Given the description of an element on the screen output the (x, y) to click on. 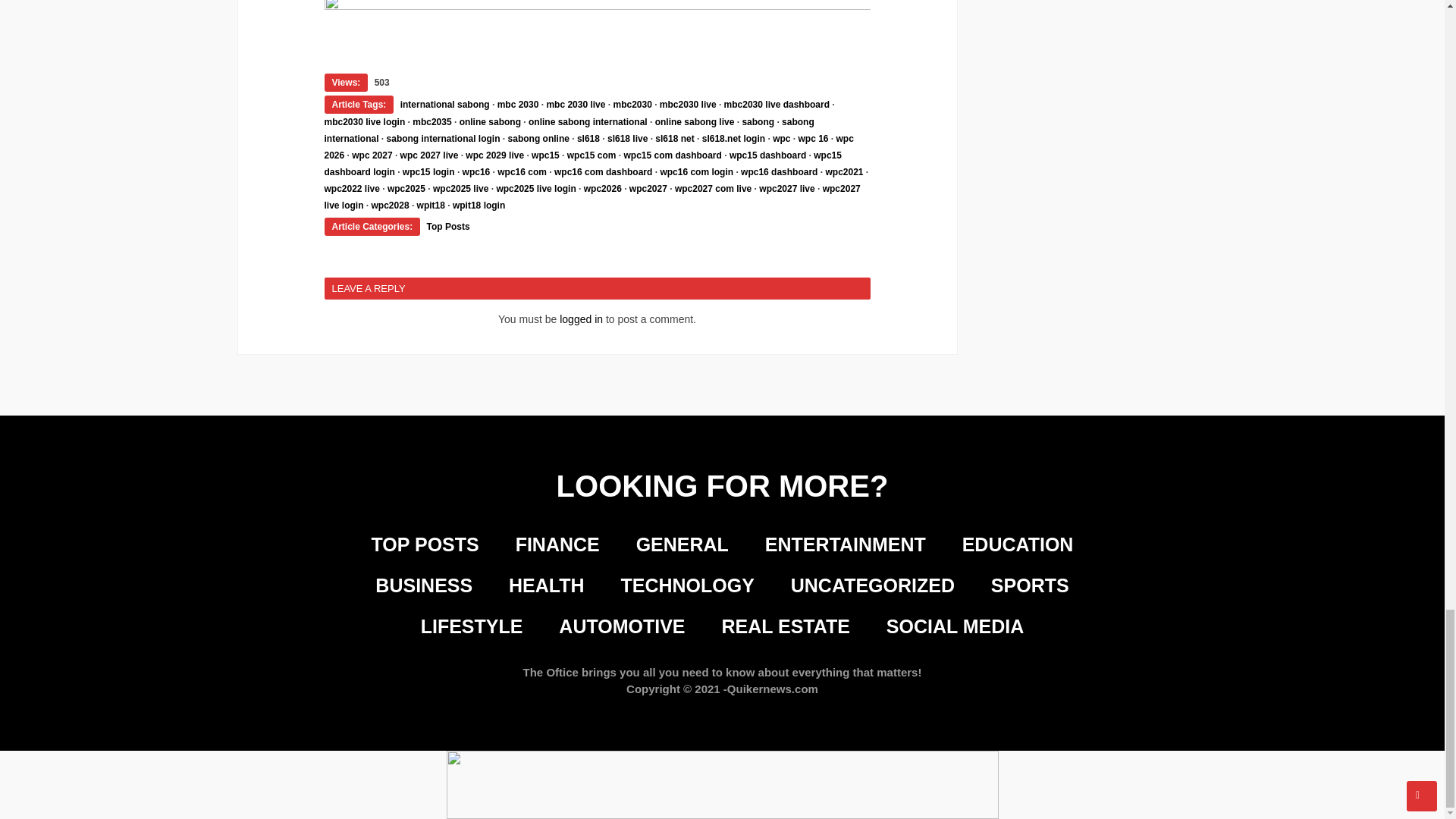
mbc 2030 live (575, 104)
mbc2035 (431, 122)
mbc2030 live (687, 104)
international sabong (444, 104)
mbc2030 live dashboard (776, 104)
mbc 2030 (517, 104)
mbc2030 live login (365, 122)
mbc2030 (631, 104)
